Given the description of an element on the screen output the (x, y) to click on. 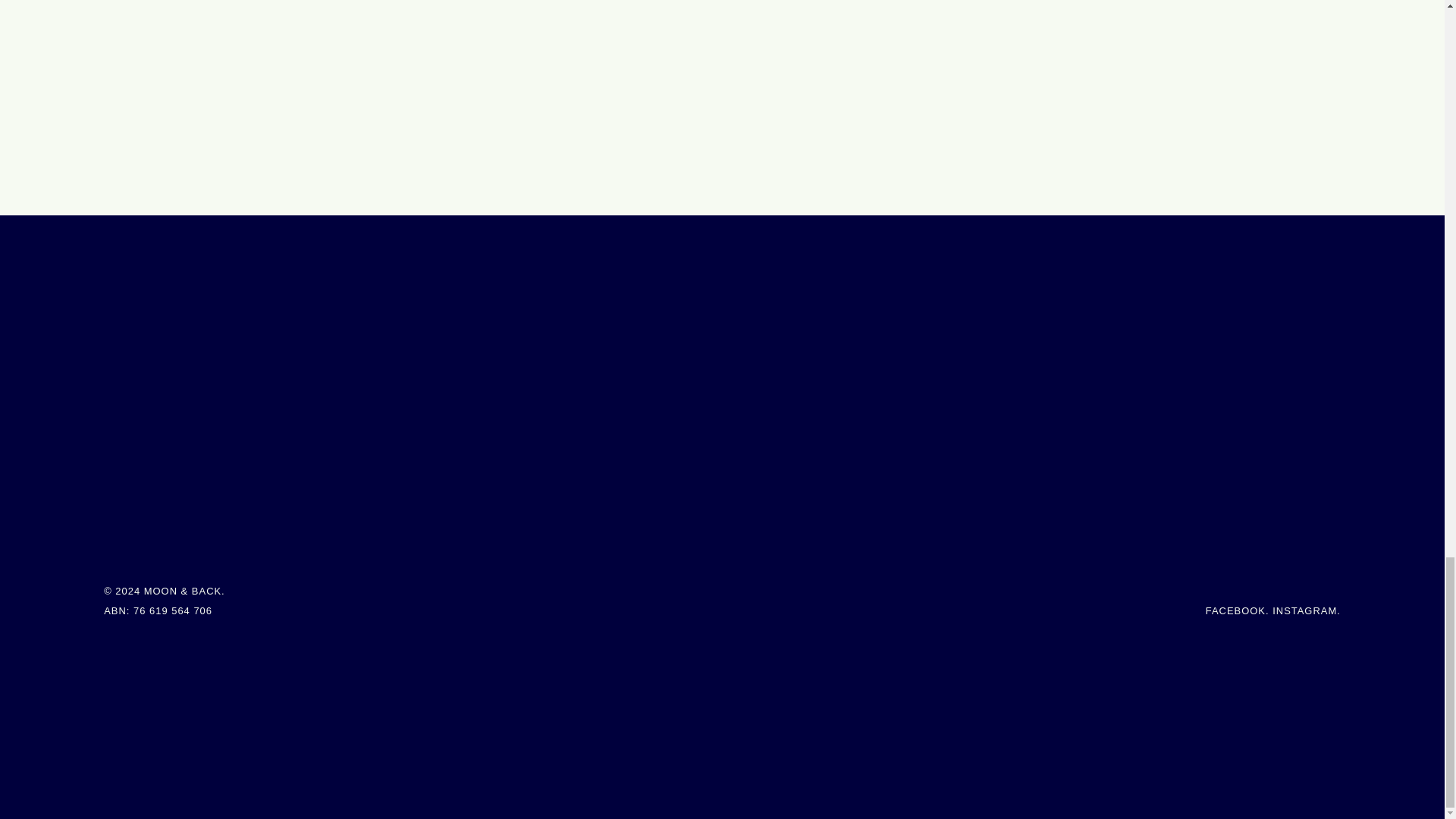
FACEBOOK (1235, 610)
Moon and Back on Facebook (1235, 610)
INSTAGRAM (1304, 610)
Moon and Back on Instagram (1304, 610)
